Given the description of an element on the screen output the (x, y) to click on. 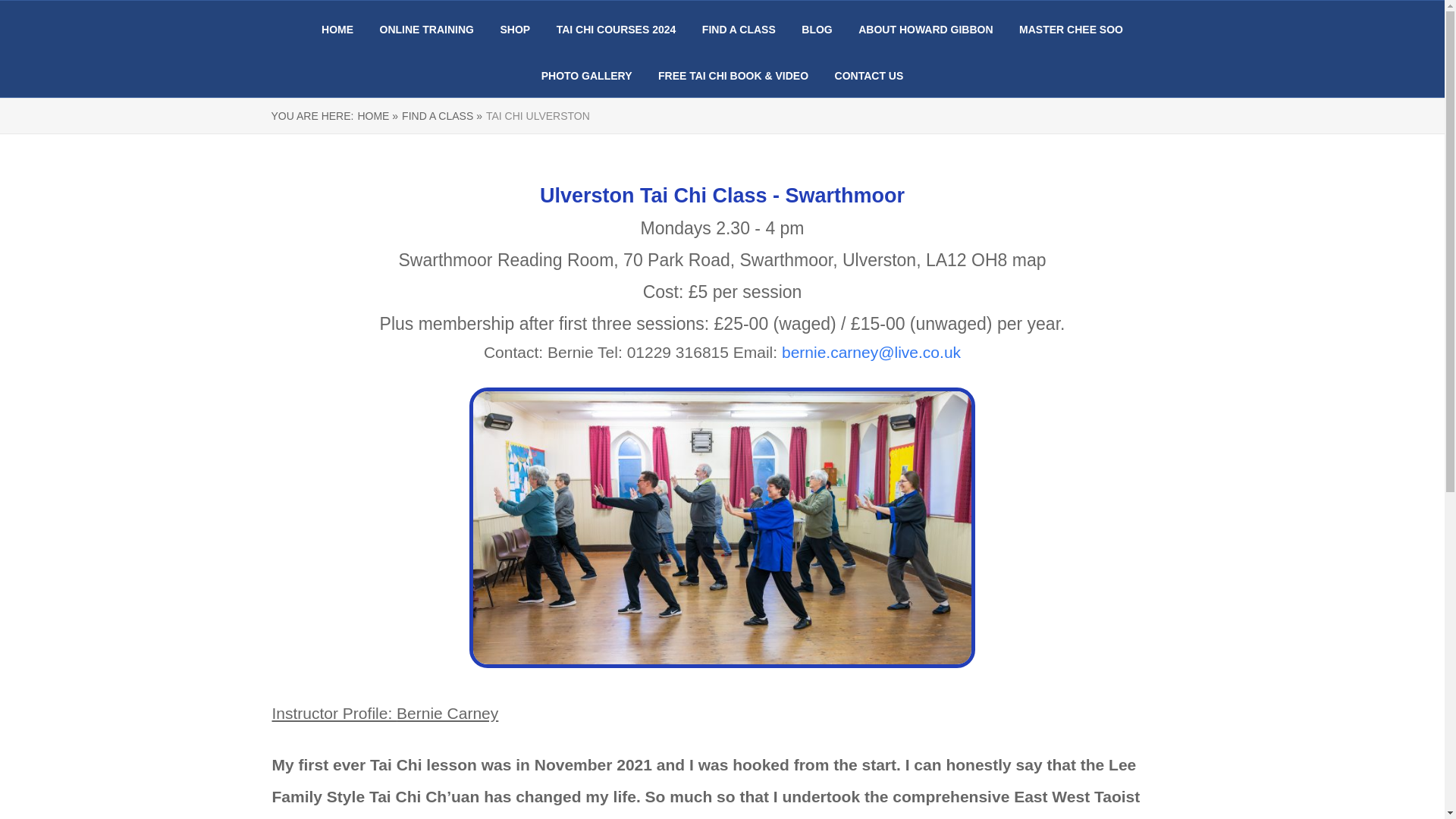
PHOTO GALLERY (586, 75)
TAI CHI COURSES 2024 (616, 29)
ONLINE TRAINING (427, 29)
HOME (337, 29)
MASTER CHEE SOO (1070, 29)
SHOP (514, 29)
CONTACT US (869, 75)
BLOG (816, 29)
ABOUT HOWARD GIBBON (925, 29)
FIND A CLASS (738, 29)
